Given the description of an element on the screen output the (x, y) to click on. 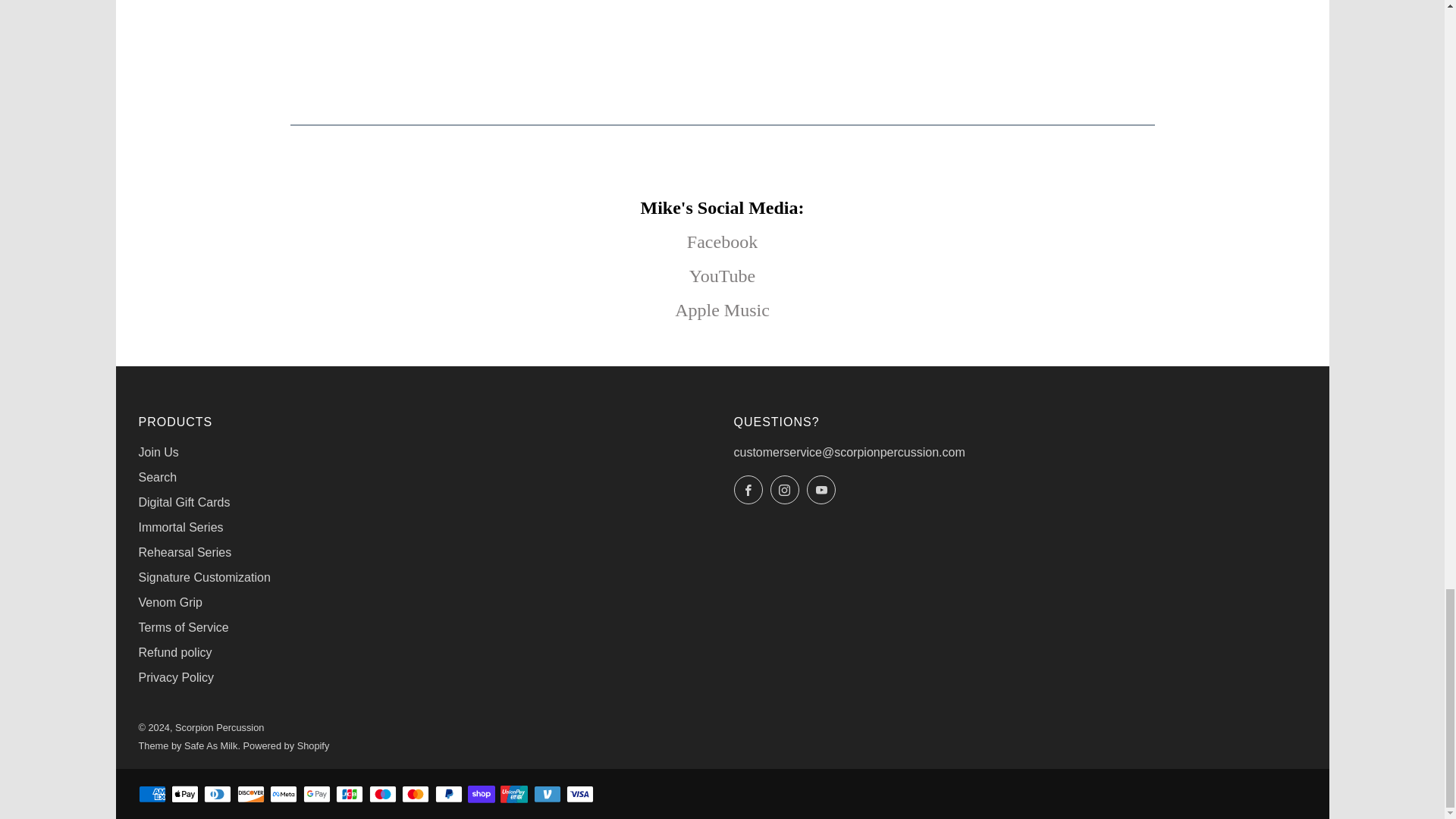
yt-video (721, 29)
